Given the description of an element on the screen output the (x, y) to click on. 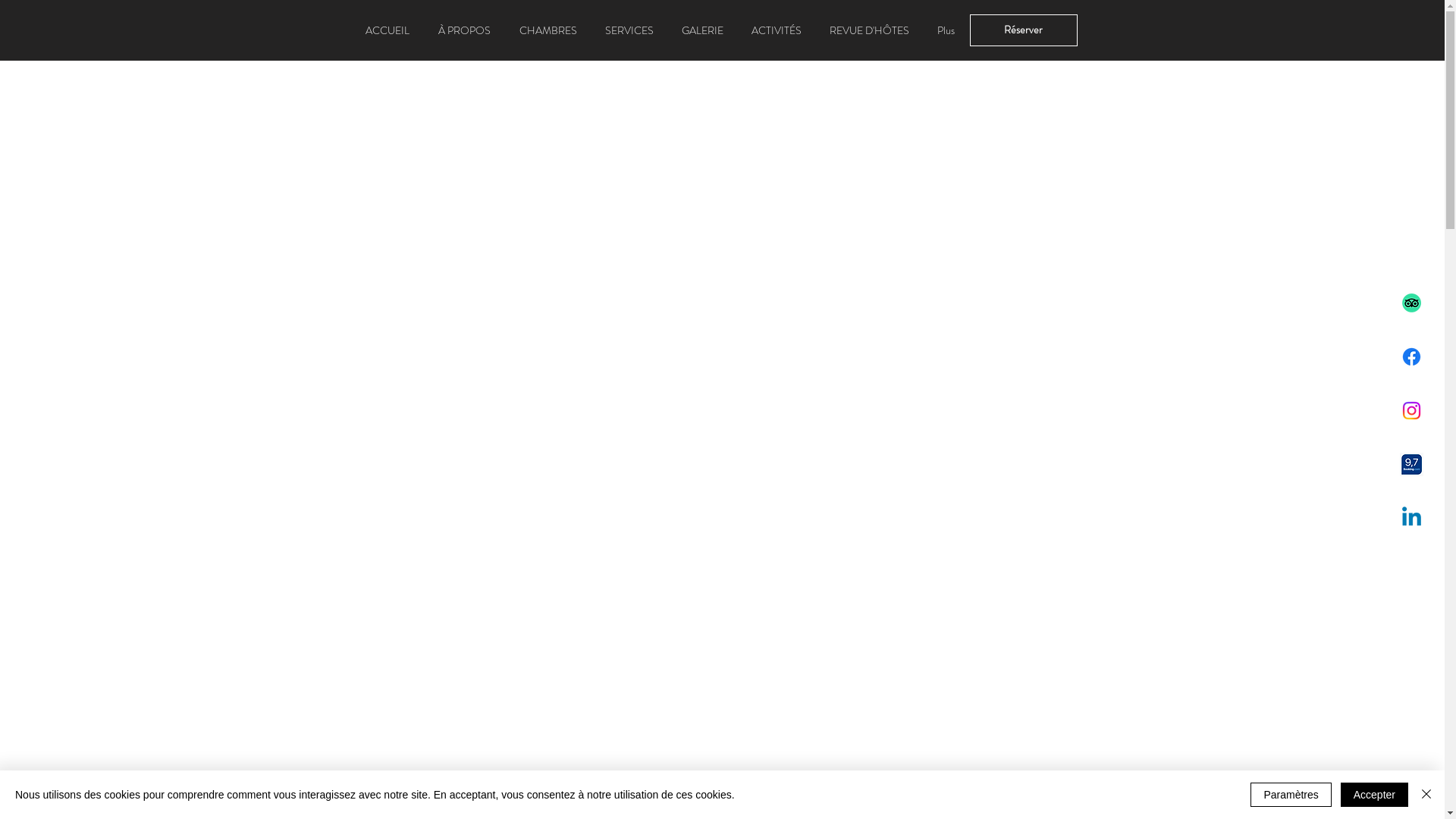
ACCUEIL Element type: text (386, 30)
CHAMBRES Element type: text (548, 30)
SERVICES Element type: text (629, 30)
Accepter Element type: text (1374, 794)
GALERIE Element type: text (702, 30)
